Given the description of an element on the screen output the (x, y) to click on. 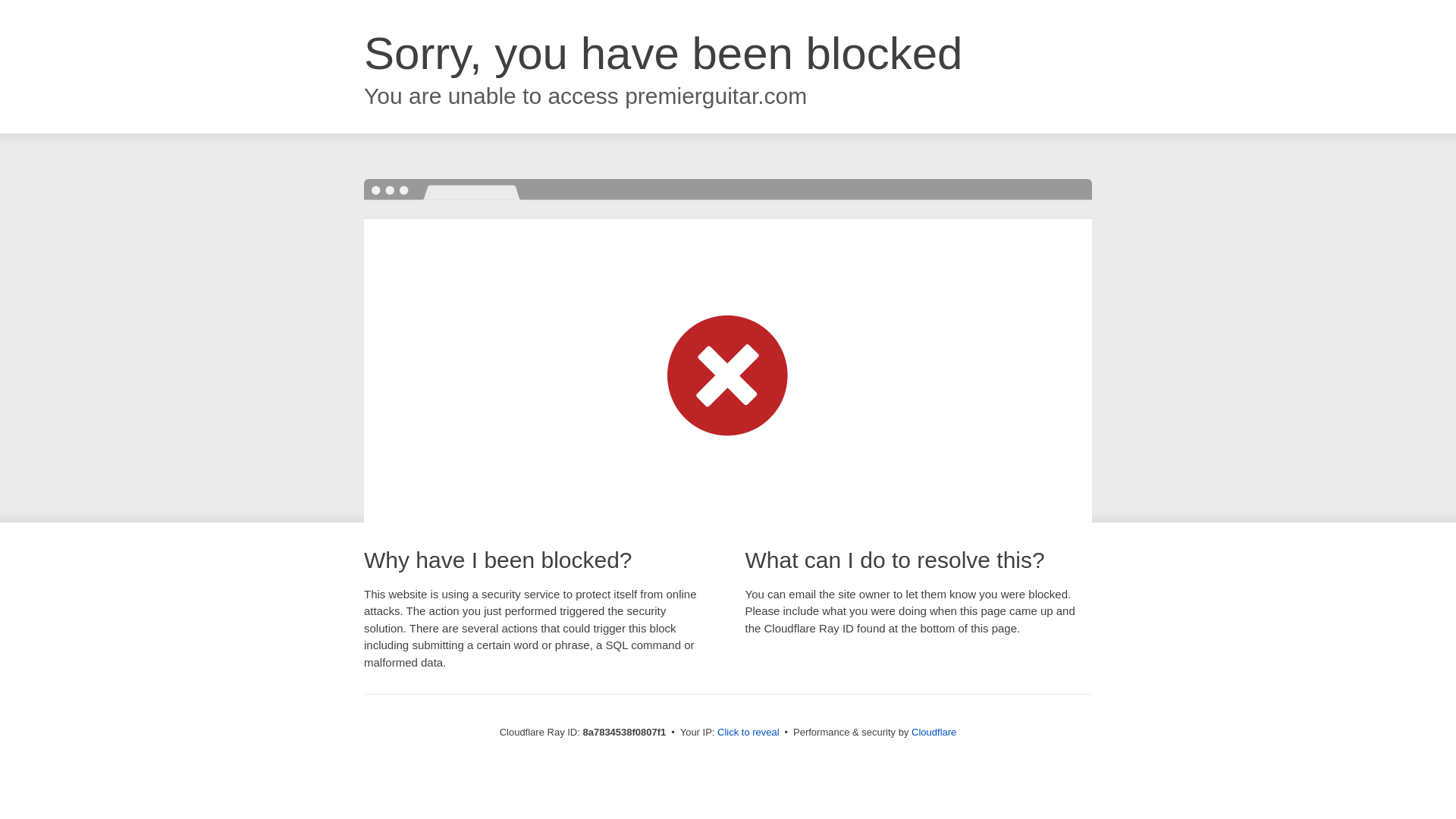
Click to reveal (747, 732)
Cloudflare (933, 731)
